Given the description of an element on the screen output the (x, y) to click on. 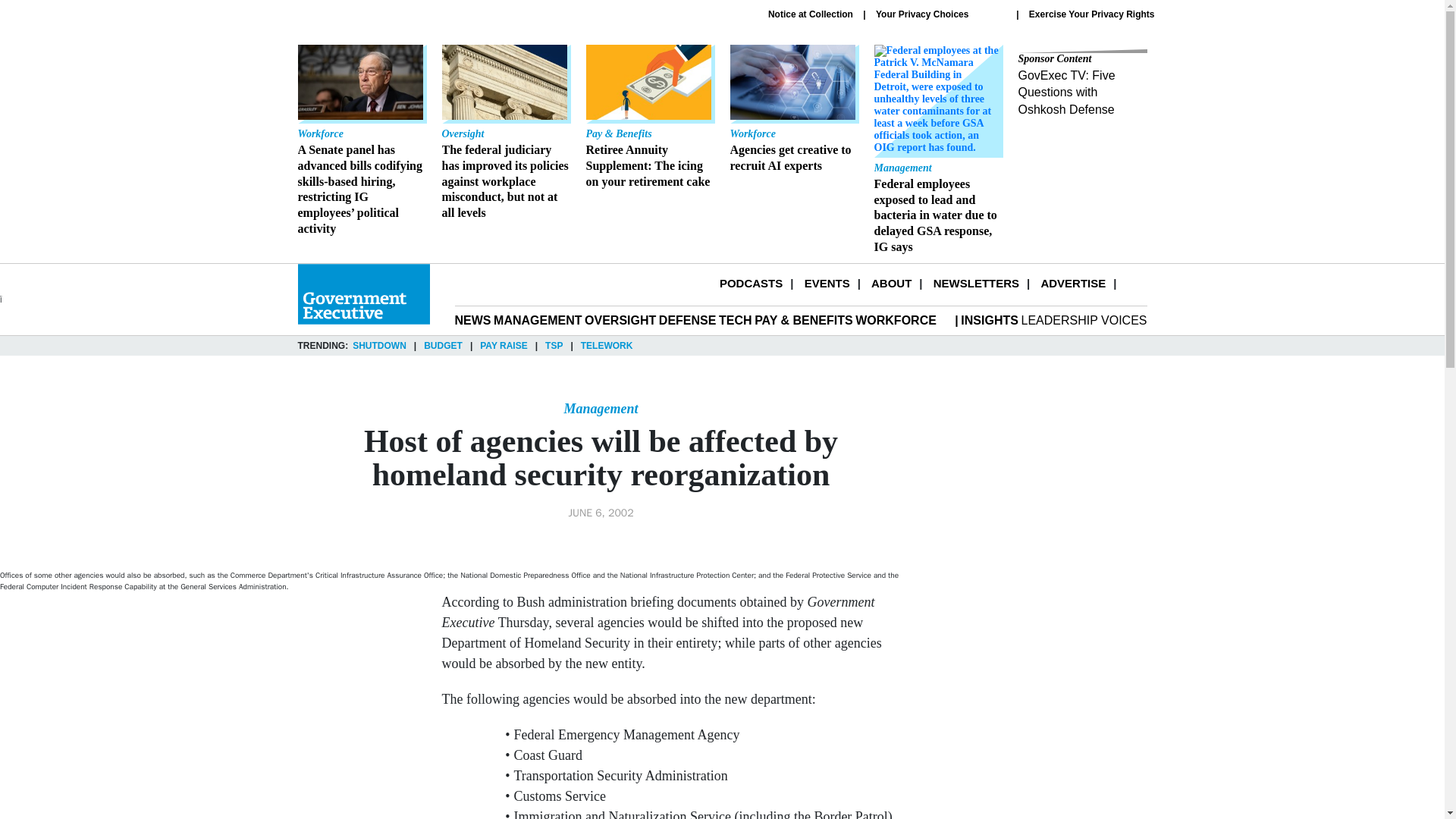
NEWSLETTERS (794, 109)
Notice at Collection (976, 282)
Exercise Your Privacy Rights (810, 14)
ABOUT (1091, 14)
Your Privacy Choices (890, 282)
ADVERTISE (941, 14)
PODCASTS (1073, 282)
EVENTS (751, 282)
